Given the description of an element on the screen output the (x, y) to click on. 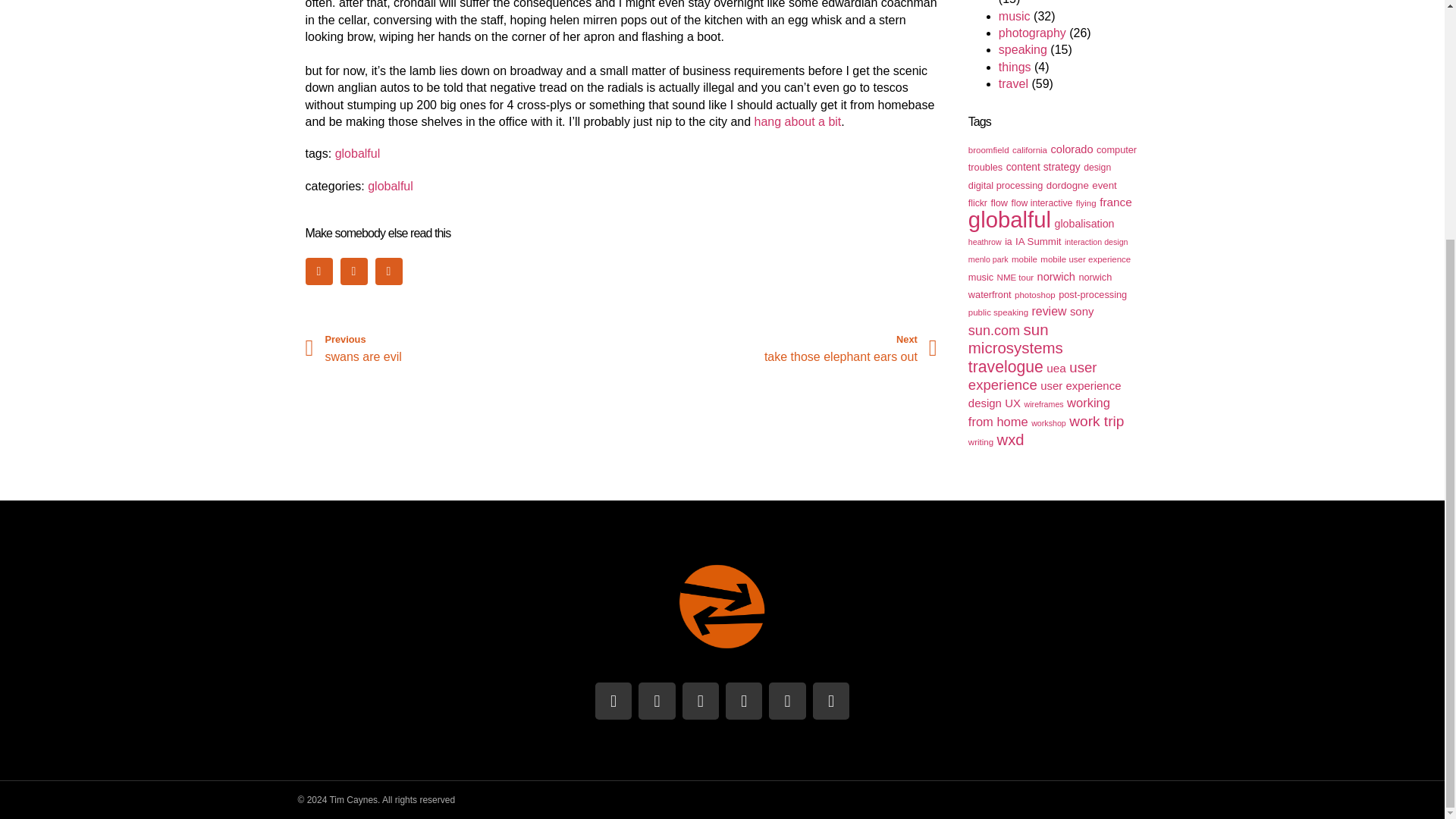
digital processing (1005, 184)
globalful (357, 153)
computer troubles (462, 348)
travel (1052, 158)
california (1012, 83)
design (1028, 149)
event (1096, 167)
speaking (1104, 184)
flickr (1022, 49)
dordogne (977, 203)
colorado (1067, 184)
photography (1071, 149)
content strategy (1031, 32)
music (1043, 166)
